Given the description of an element on the screen output the (x, y) to click on. 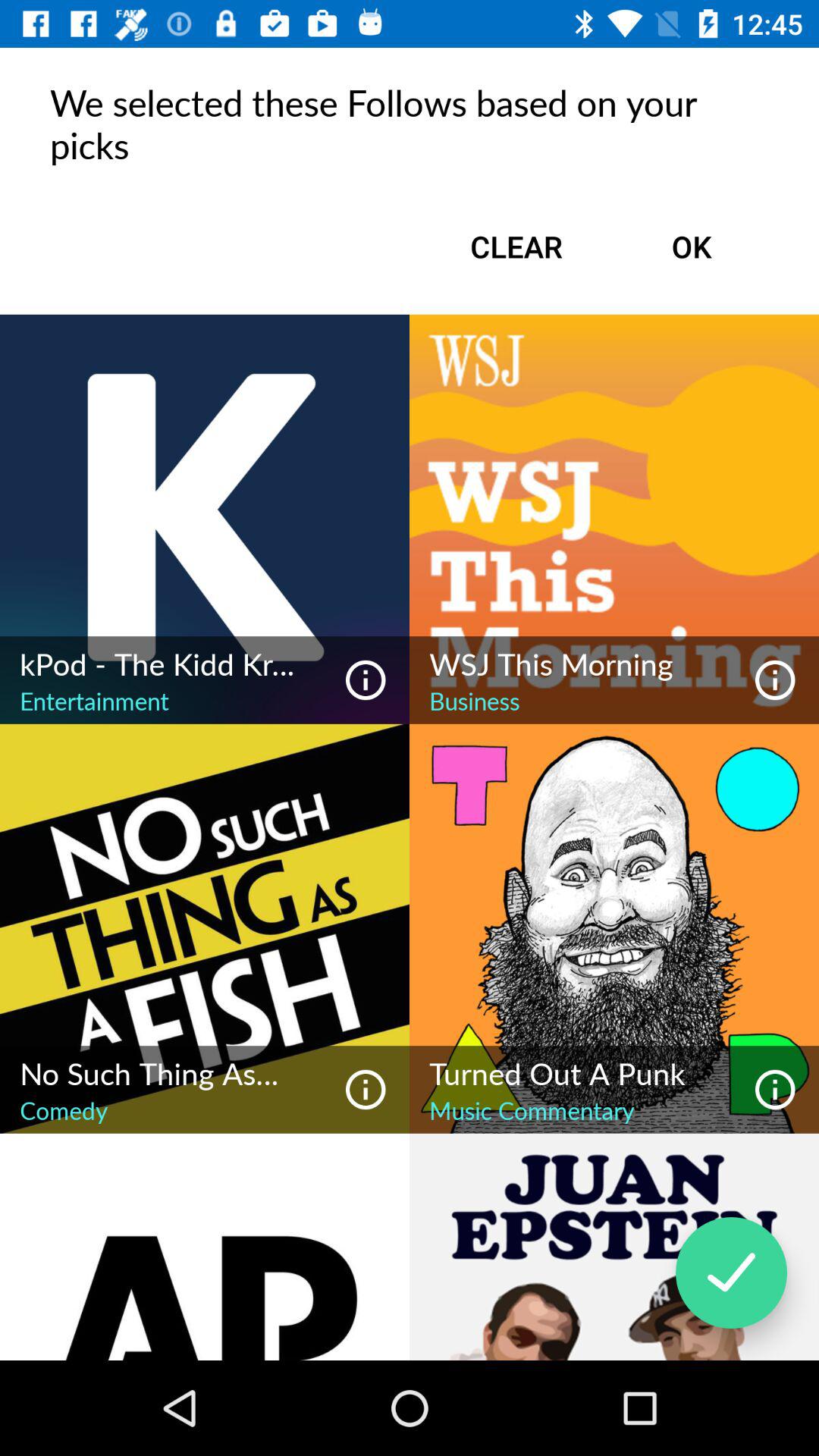
open the icon next to the clear (691, 246)
